Given the description of an element on the screen output the (x, y) to click on. 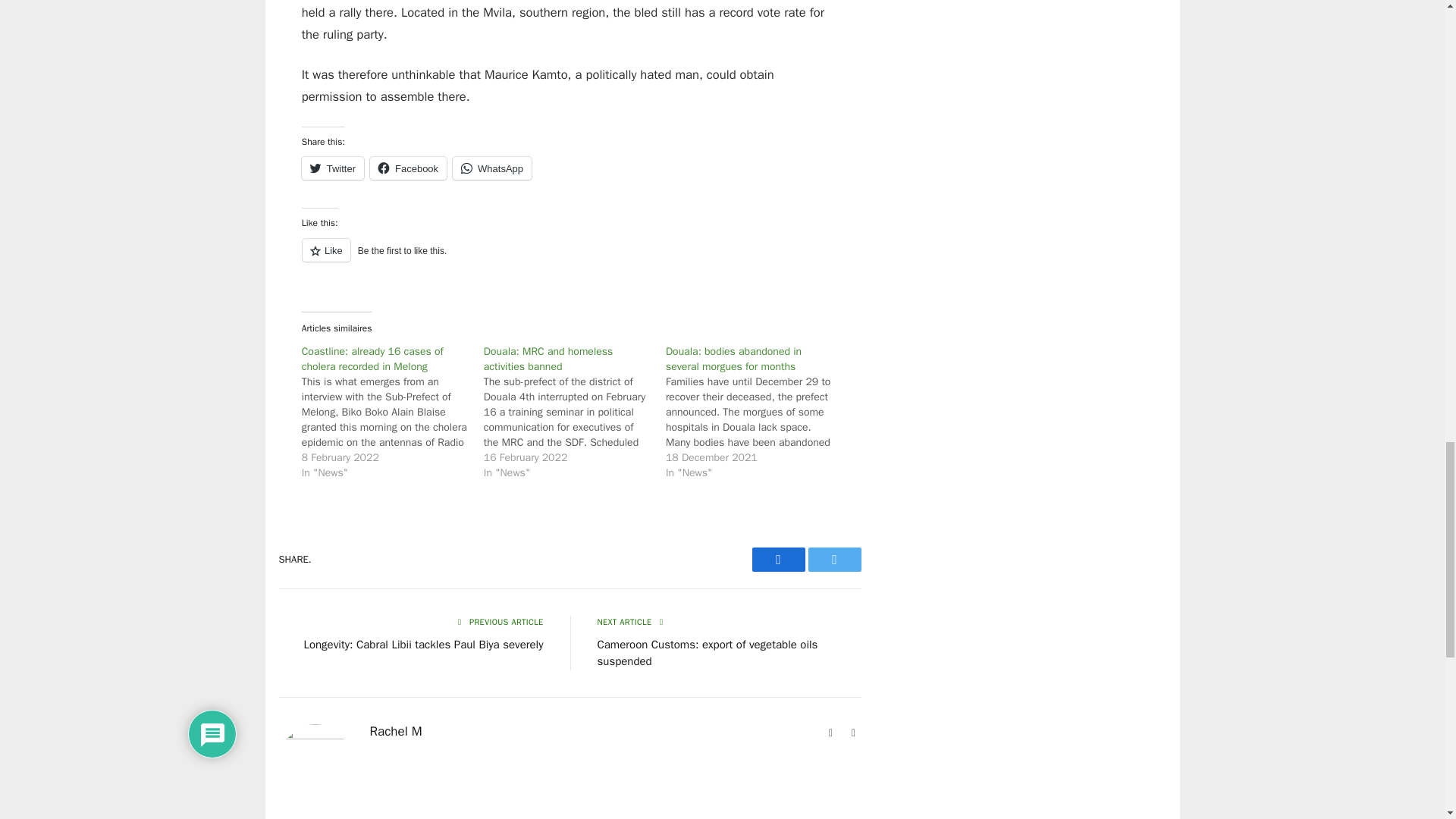
WhatsApp (491, 168)
Twitter (332, 168)
Douala: MRC and homeless activities banned (547, 358)
Coastline: already 16 cases of cholera recorded in Melong (372, 358)
Facebook (778, 559)
Douala: bodies abandoned in several morgues for months (733, 358)
Facebook (407, 168)
Twitter (834, 559)
